Given the description of an element on the screen output the (x, y) to click on. 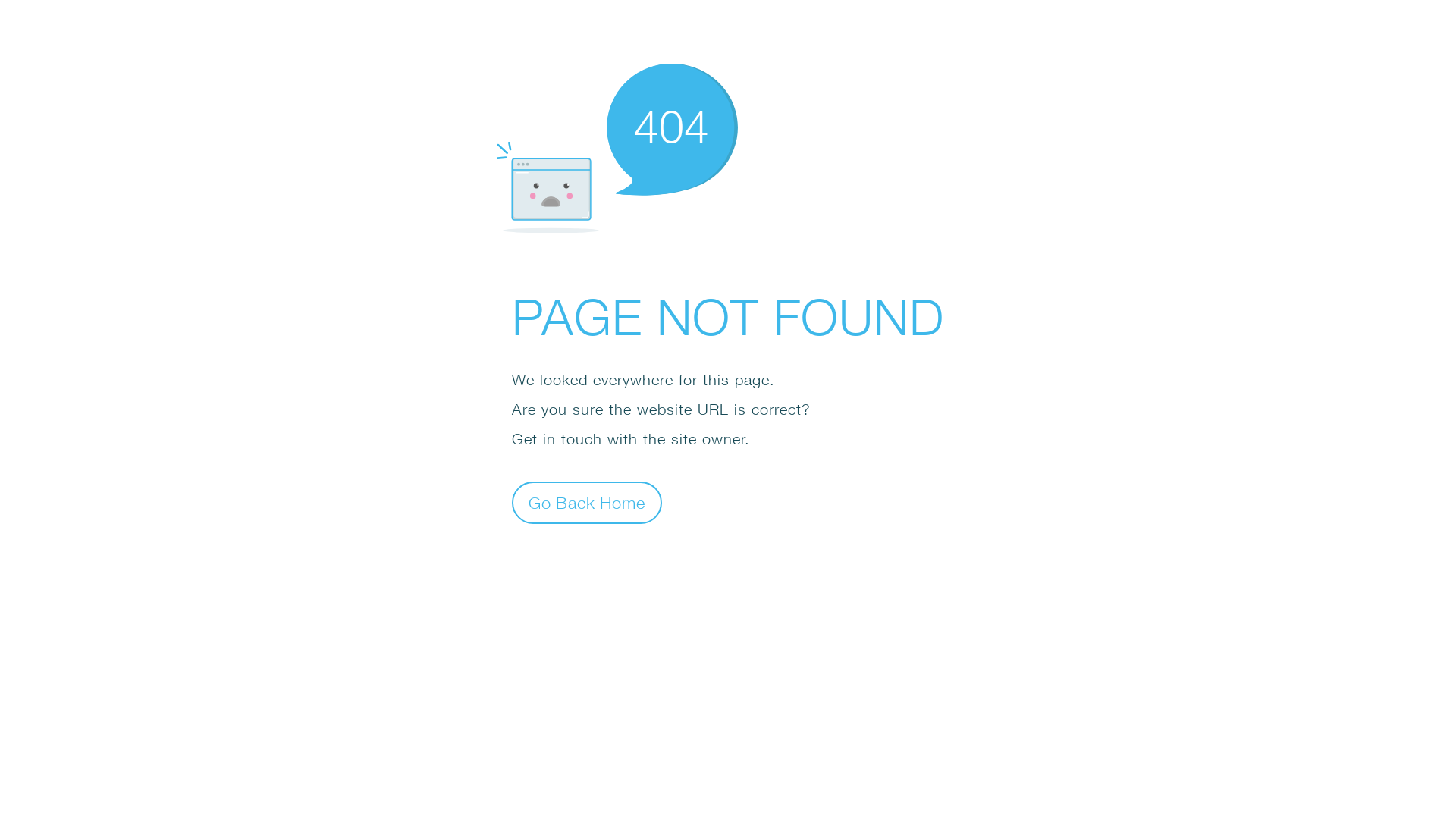
Go Back Home Element type: text (586, 502)
